Given the description of an element on the screen output the (x, y) to click on. 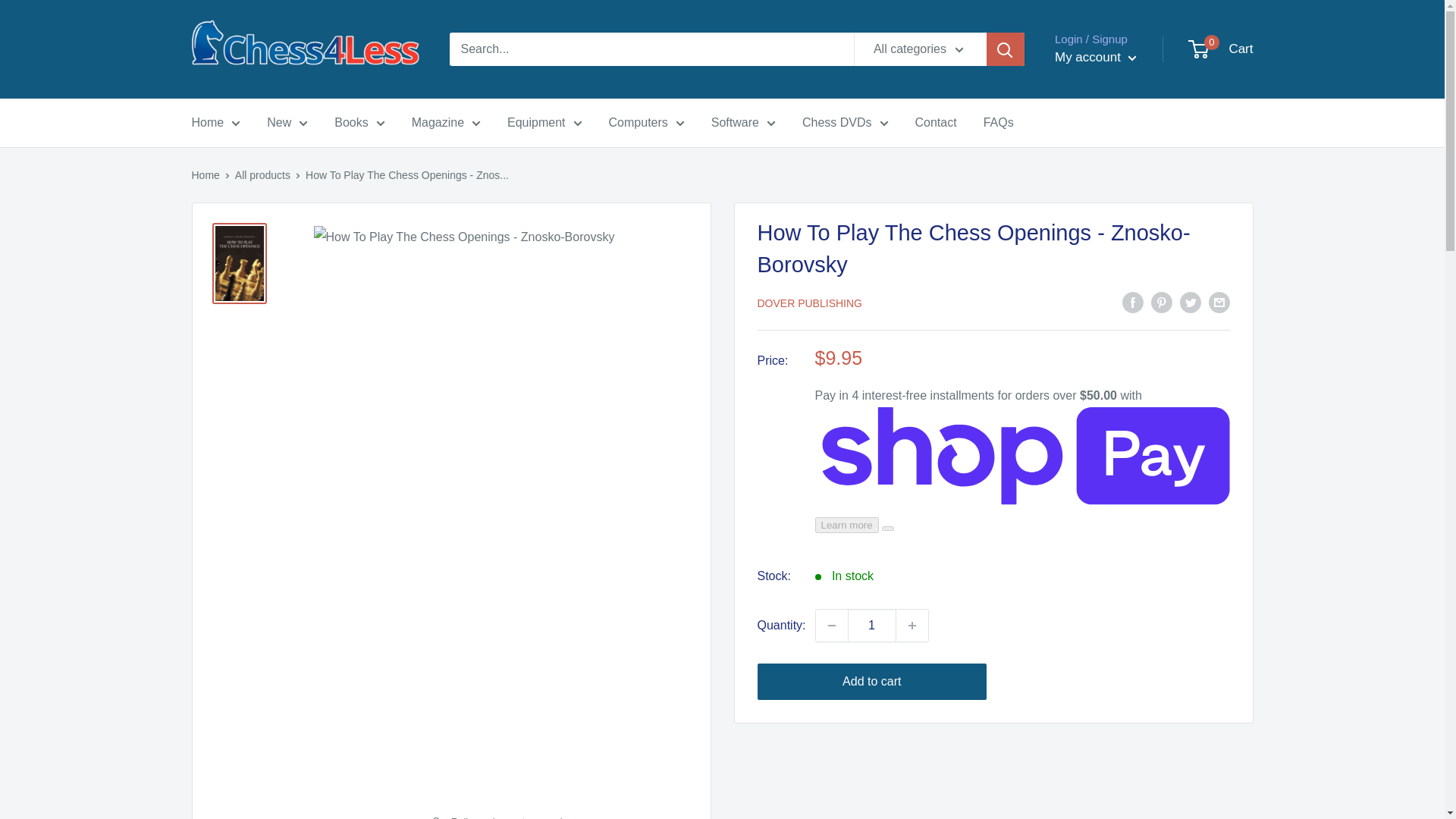
1 (871, 625)
Increase quantity by 1 (912, 625)
Decrease quantity by 1 (831, 625)
